Given the description of an element on the screen output the (x, y) to click on. 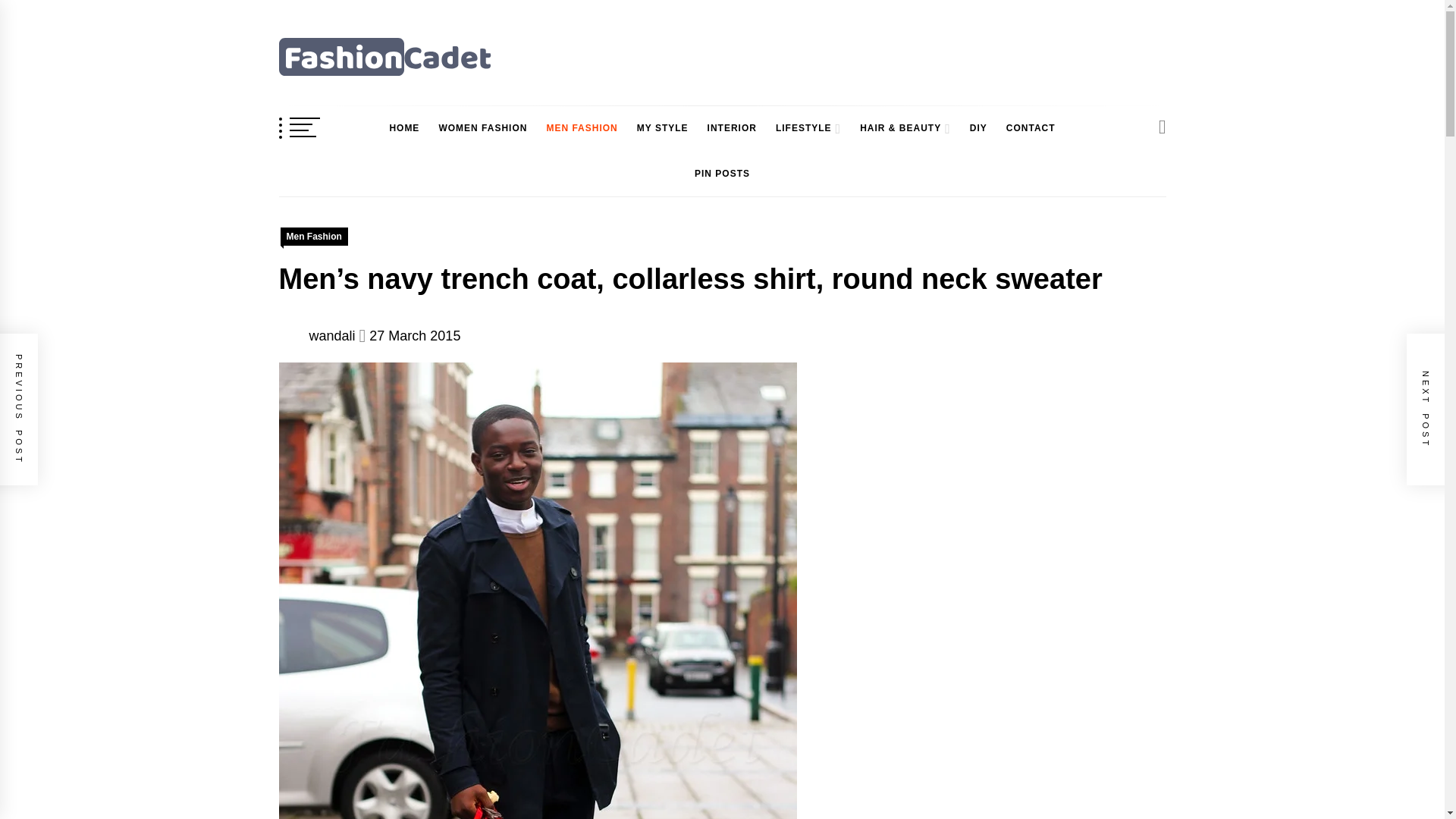
wandali (331, 335)
INTERIOR (732, 128)
WOMEN FASHION (482, 128)
Men Fashion (314, 236)
27 March 2015 (414, 335)
Fashioncadet (362, 97)
PIN POSTS (722, 173)
MY STYLE (661, 128)
CONTACT (1030, 128)
HOME (403, 128)
MEN FASHION (581, 128)
LIFESTYLE (799, 128)
